Given the description of an element on the screen output the (x, y) to click on. 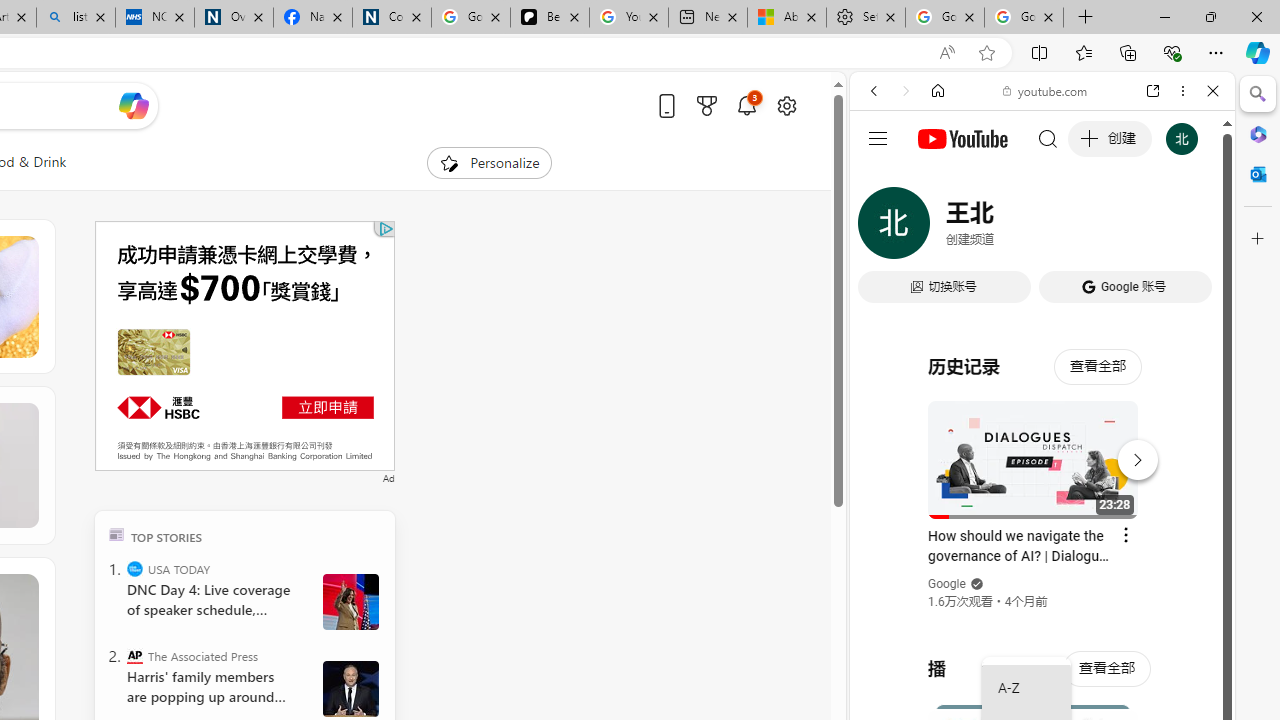
Search Filter, WEB (882, 228)
Search the web (1051, 137)
Class: b_serphb (1190, 229)
VIDEOS (1006, 228)
Search Filter, VIDEOS (1006, 228)
Class: qc-adchoices-icon (386, 228)
Notifications (746, 105)
